Given the description of an element on the screen output the (x, y) to click on. 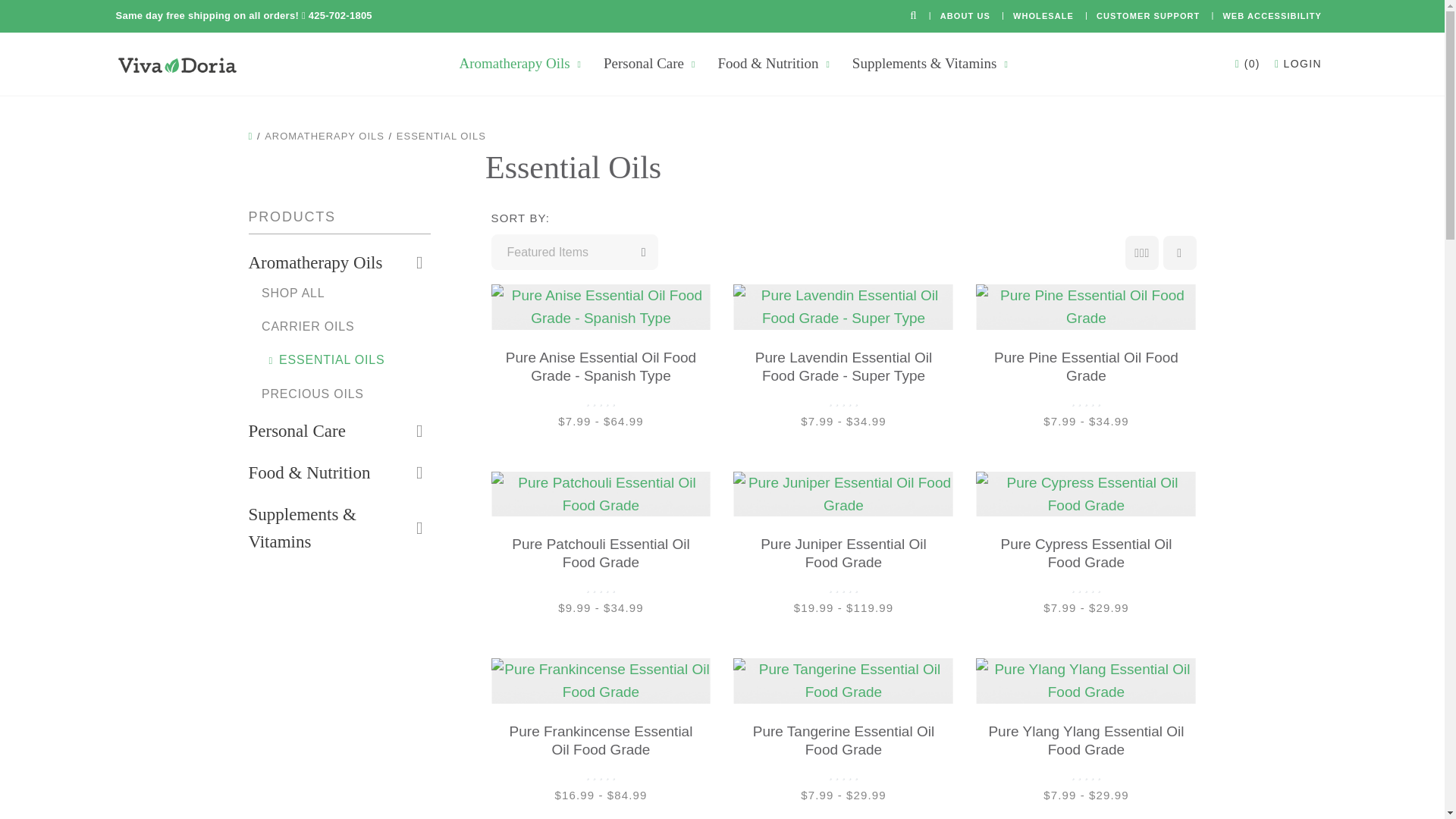
WEB ACCESSIBILITY (1269, 15)
Essential Oils (316, 359)
LOGIN (1296, 63)
Personal Care Menu (692, 64)
CUSTOMER SUPPORT (1147, 15)
425-702-1805 (340, 15)
Aromatherapy Oils (513, 63)
Personal Care (297, 431)
SEARCH (913, 15)
Search (913, 15)
Aromatherapy Oils (315, 262)
Viva Doria (176, 65)
ABOUT US (964, 15)
Personal Care (643, 63)
Precious Oils (306, 393)
